Given the description of an element on the screen output the (x, y) to click on. 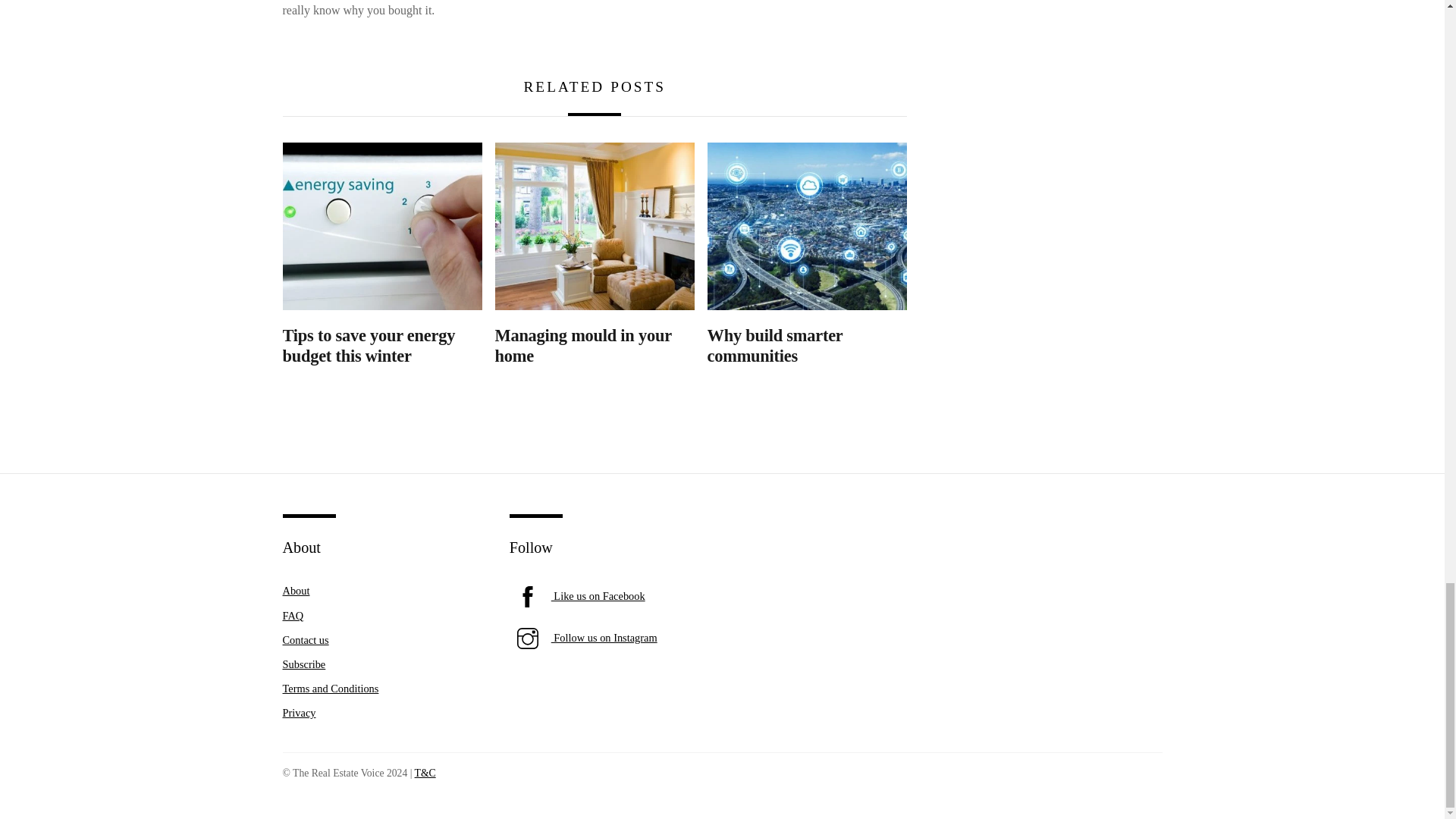
Managing Mould in your Home (595, 226)
Tips to save your energy budget this winter (381, 226)
Managing mould in your home (583, 345)
Tips to save your energy budget this winter (368, 345)
Why build smarter communities (807, 226)
